Given the description of an element on the screen output the (x, y) to click on. 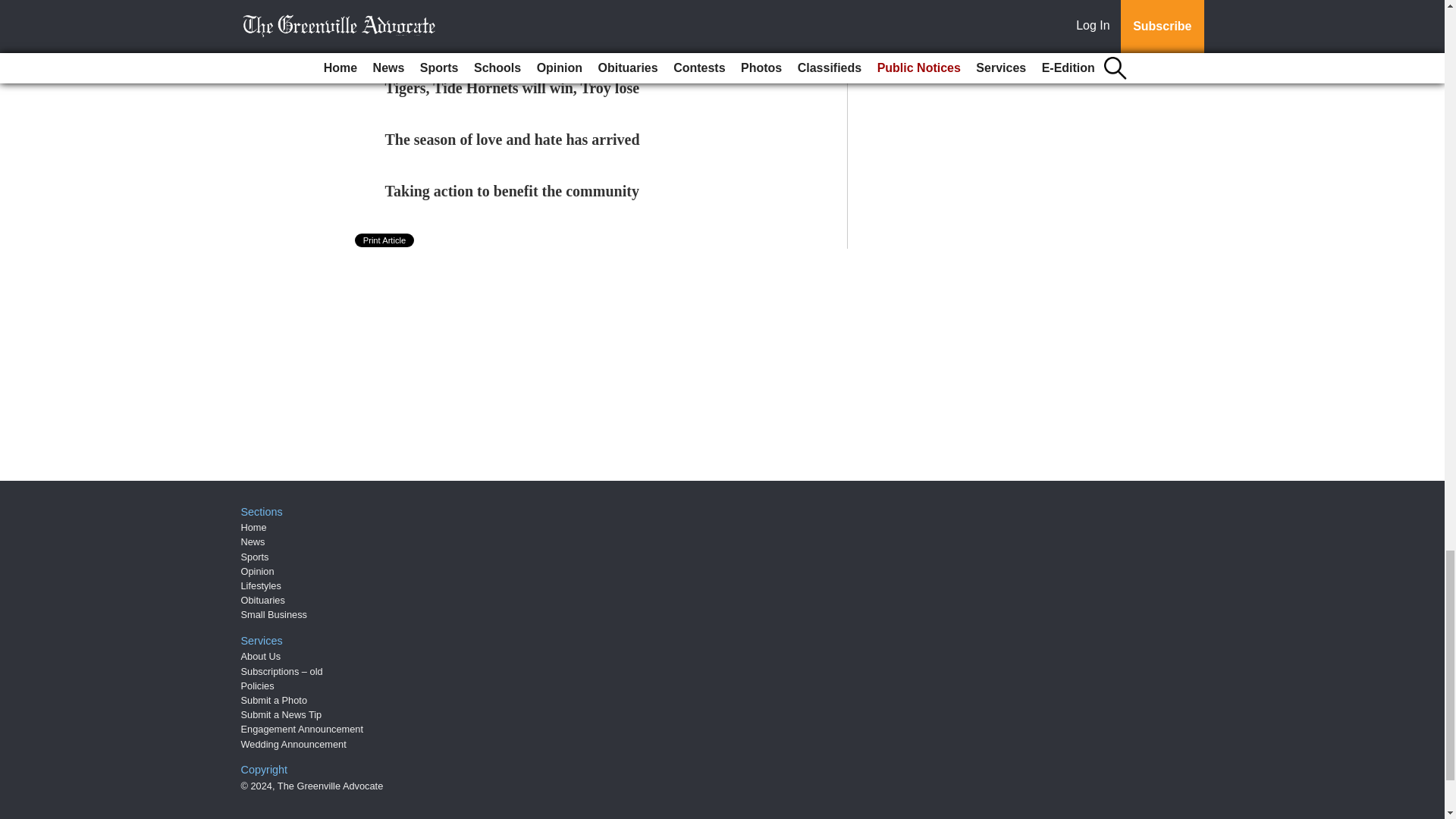
News (252, 541)
Lifestyles (261, 585)
Home (253, 527)
Taking action to benefit the community (512, 190)
Sports (255, 556)
Taking action to benefit the community (512, 190)
The season of love and hate has arrived (512, 139)
The season of love and hate has arrived (512, 139)
Tigers, Tide Hornets will win, Troy lose (512, 87)
Print Article (384, 240)
Opinion (258, 571)
Tigers, Tide Hornets will win, Troy lose (512, 87)
